Given the description of an element on the screen output the (x, y) to click on. 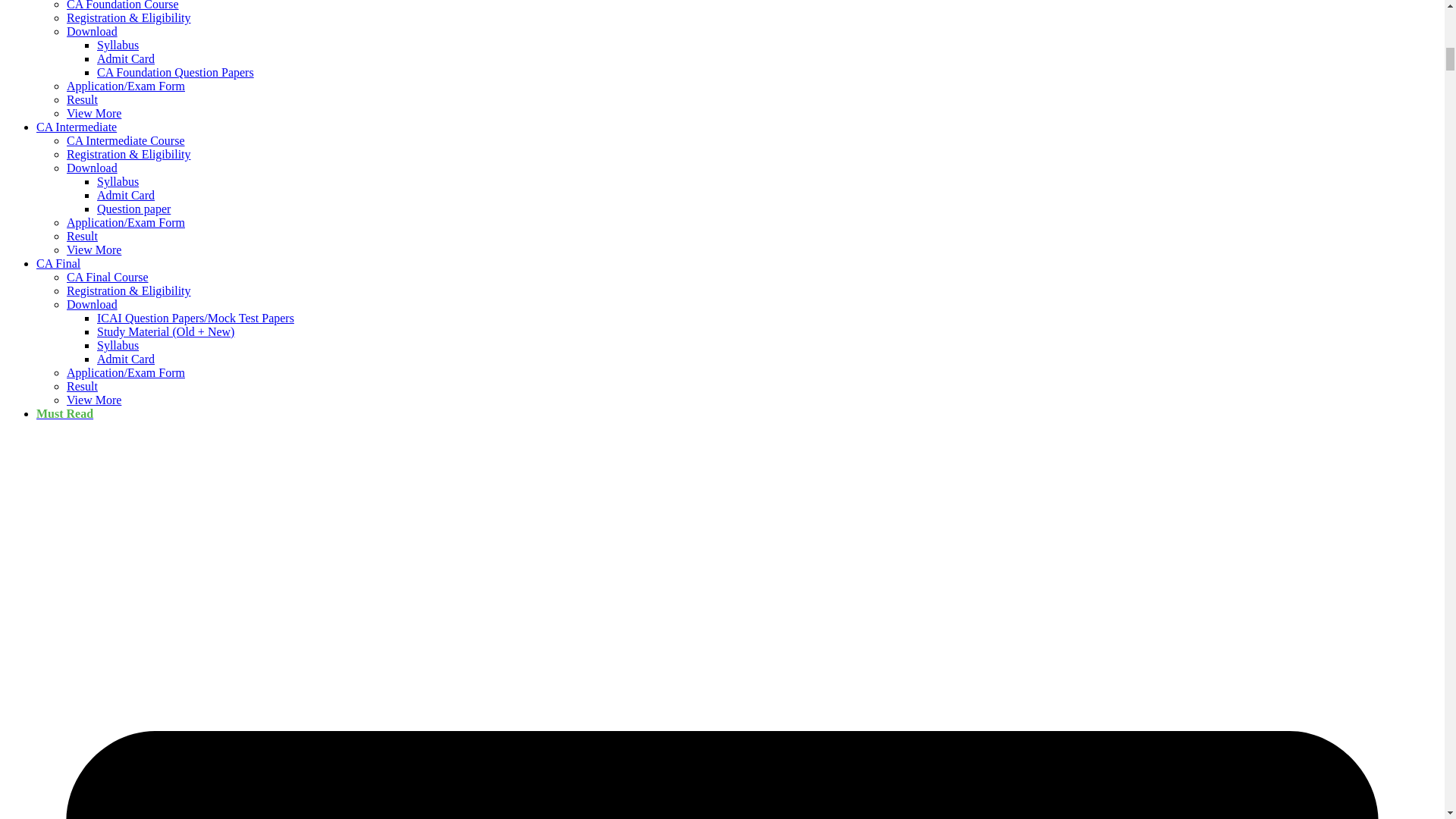
Download (91, 304)
CA Foundation Question Papers (175, 72)
Syllabus (117, 44)
Download (91, 167)
Syllabus (117, 345)
CA Intermediate Course (125, 140)
View More (93, 113)
Admit Card (125, 195)
CA Final (58, 263)
Syllabus (117, 181)
